Given the description of an element on the screen output the (x, y) to click on. 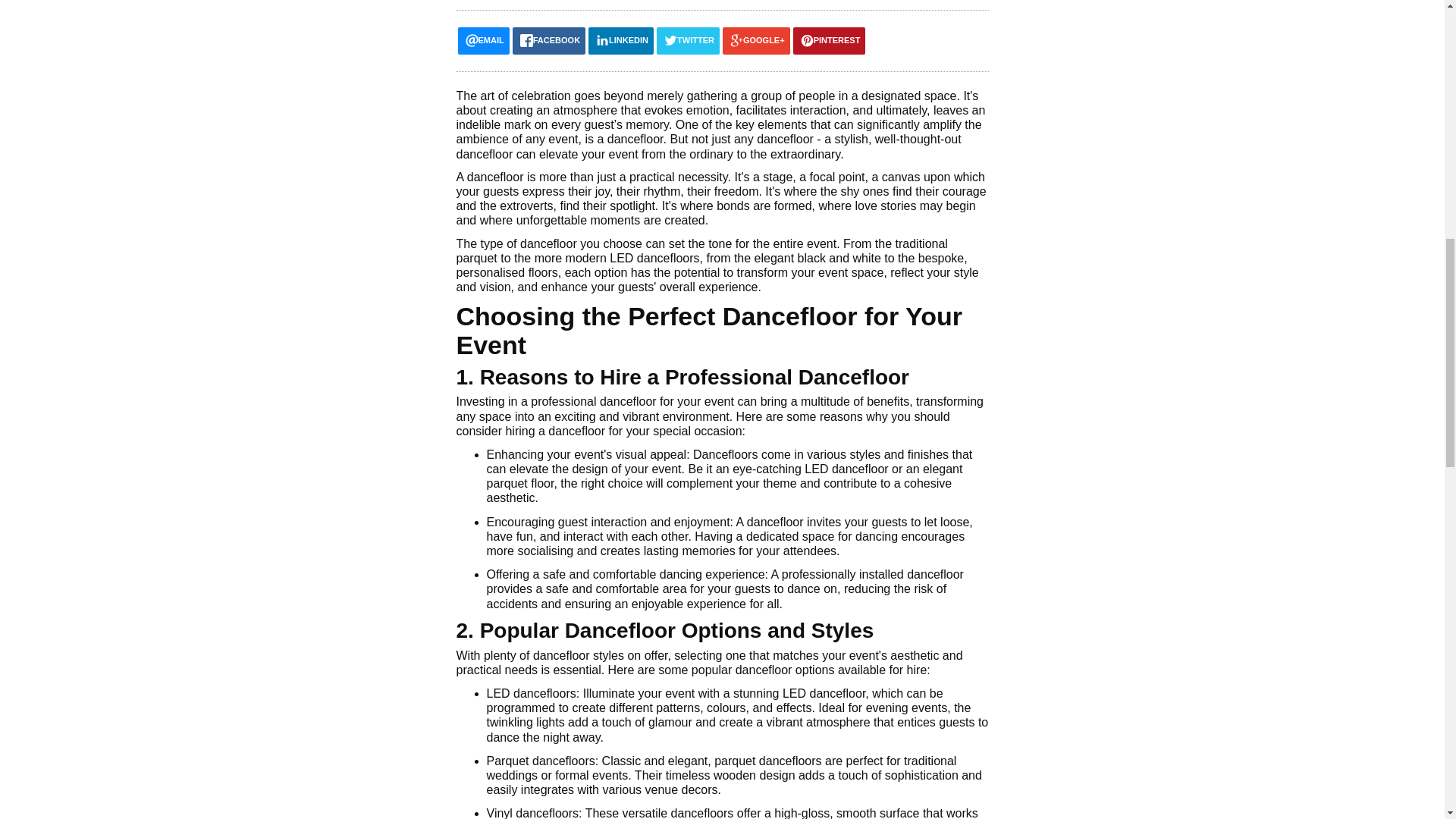
EMAIL (483, 40)
TWITTER (687, 40)
LINKEDIN (620, 40)
FACEBOOK (548, 40)
